Given the description of an element on the screen output the (x, y) to click on. 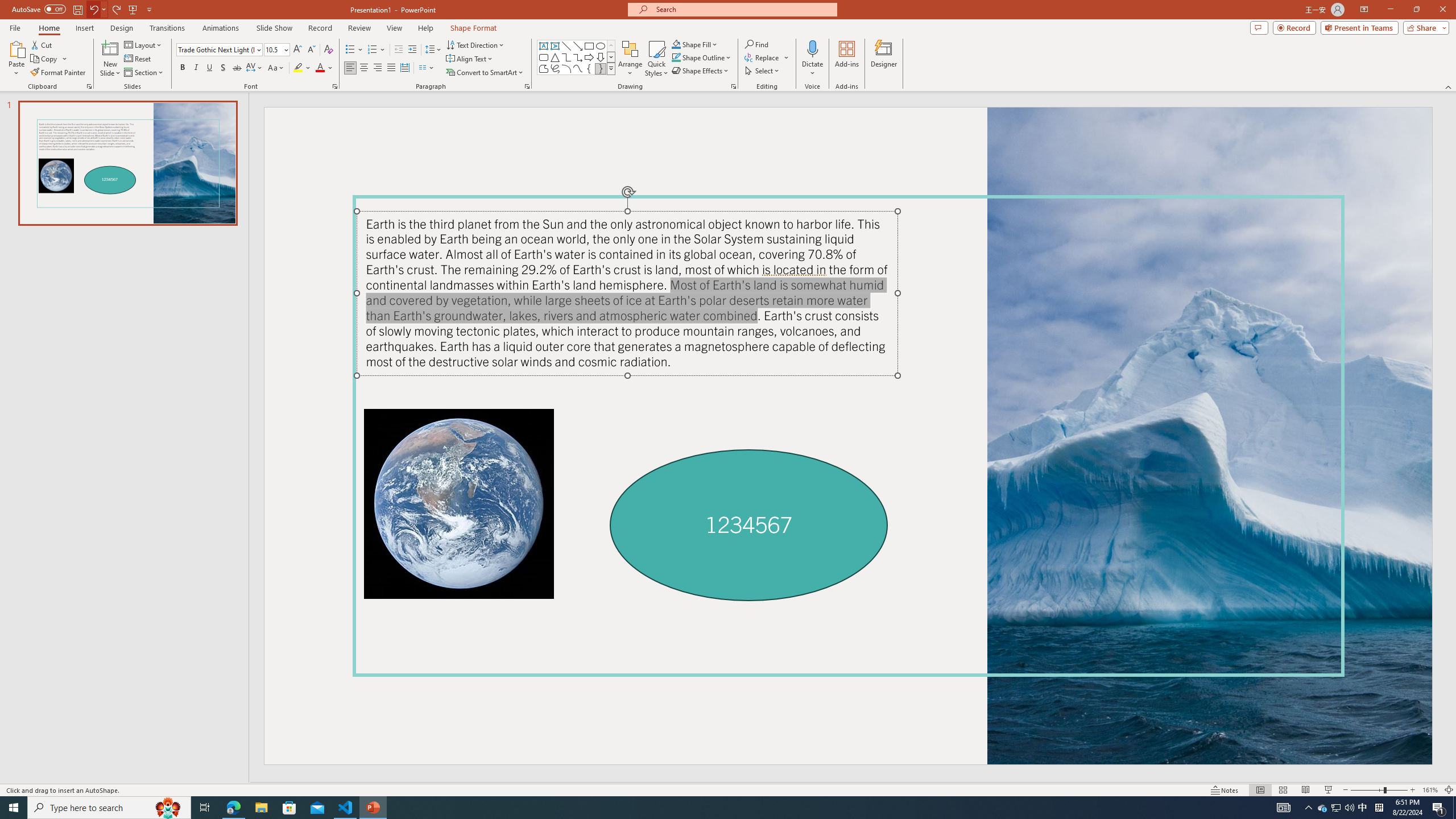
Shape Outline (701, 56)
Rectangle: Rounded Corners (543, 57)
Text Box (543, 45)
Font Color Red (320, 67)
Text Direction (476, 44)
Shape Outline Teal, Accent 1 (675, 56)
Character Spacing (254, 67)
Decrease Indent (398, 49)
Row up (611, 45)
Text Highlight Color (302, 67)
